Given the description of an element on the screen output the (x, y) to click on. 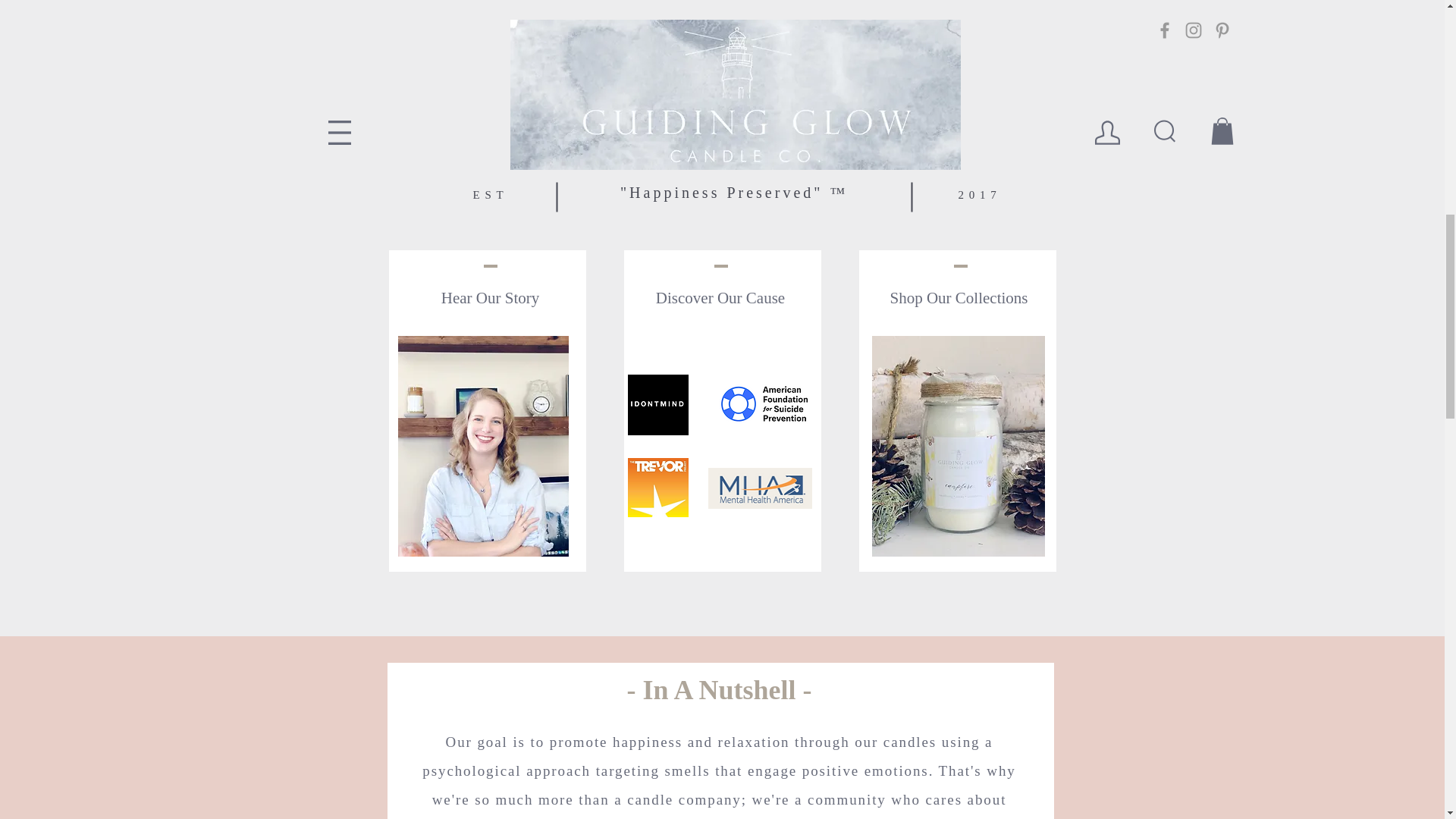
Hear Our Story (489, 298)
Shop Our Collections (958, 298)
Discover Our Cause (719, 298)
ABOUT US (488, 241)
GIVING BACK (720, 242)
CANDLES (959, 242)
